Given the description of an element on the screen output the (x, y) to click on. 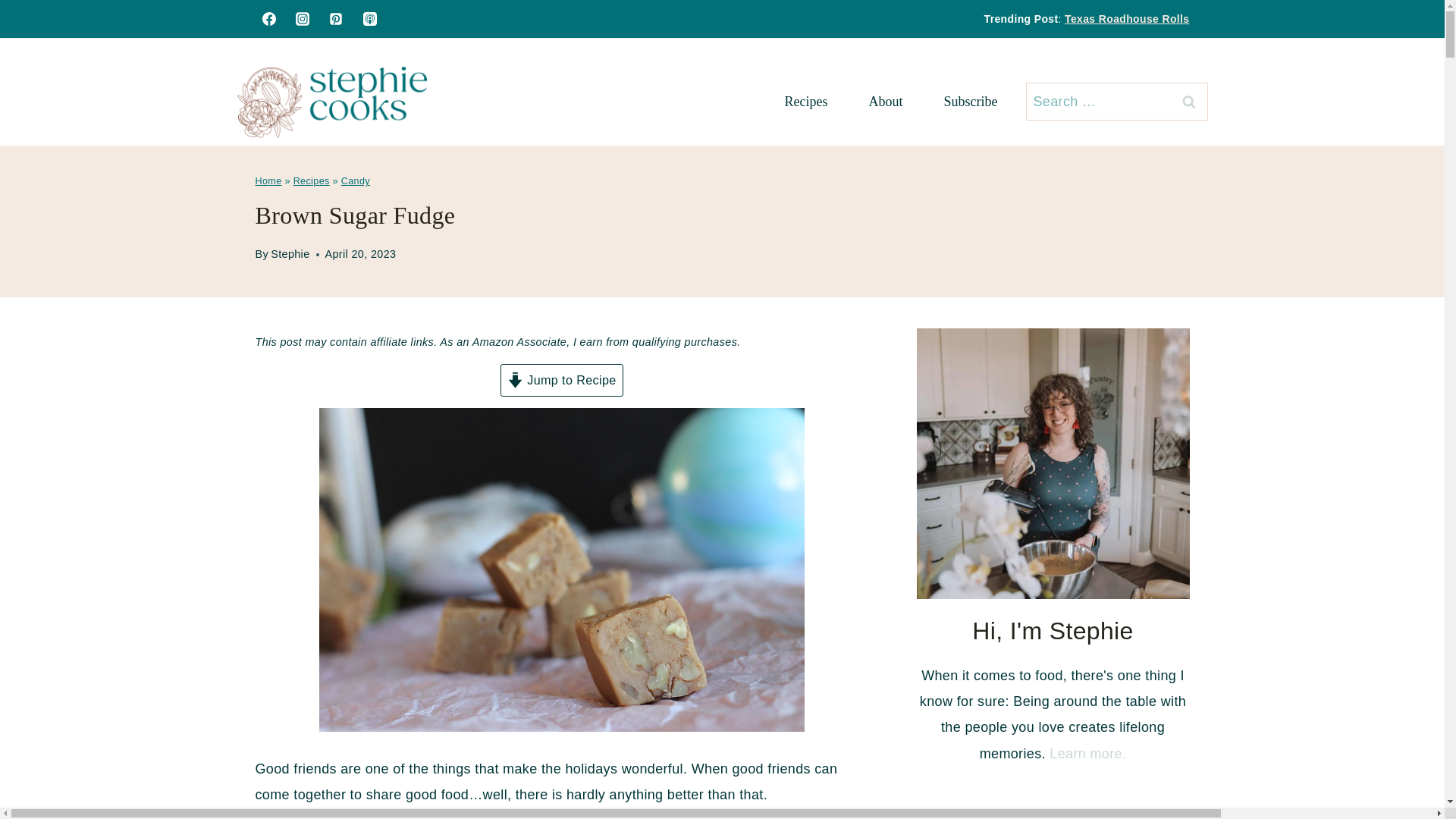
Jump to Recipe (561, 379)
Search (1188, 101)
Recipes (312, 181)
Texas Roadhouse Rolls (1126, 19)
Search (1188, 101)
Home (267, 181)
Stephie (289, 254)
Recipes (806, 101)
Subscribe (970, 101)
About (885, 101)
Candy (354, 181)
Search (1188, 101)
